Given the description of an element on the screen output the (x, y) to click on. 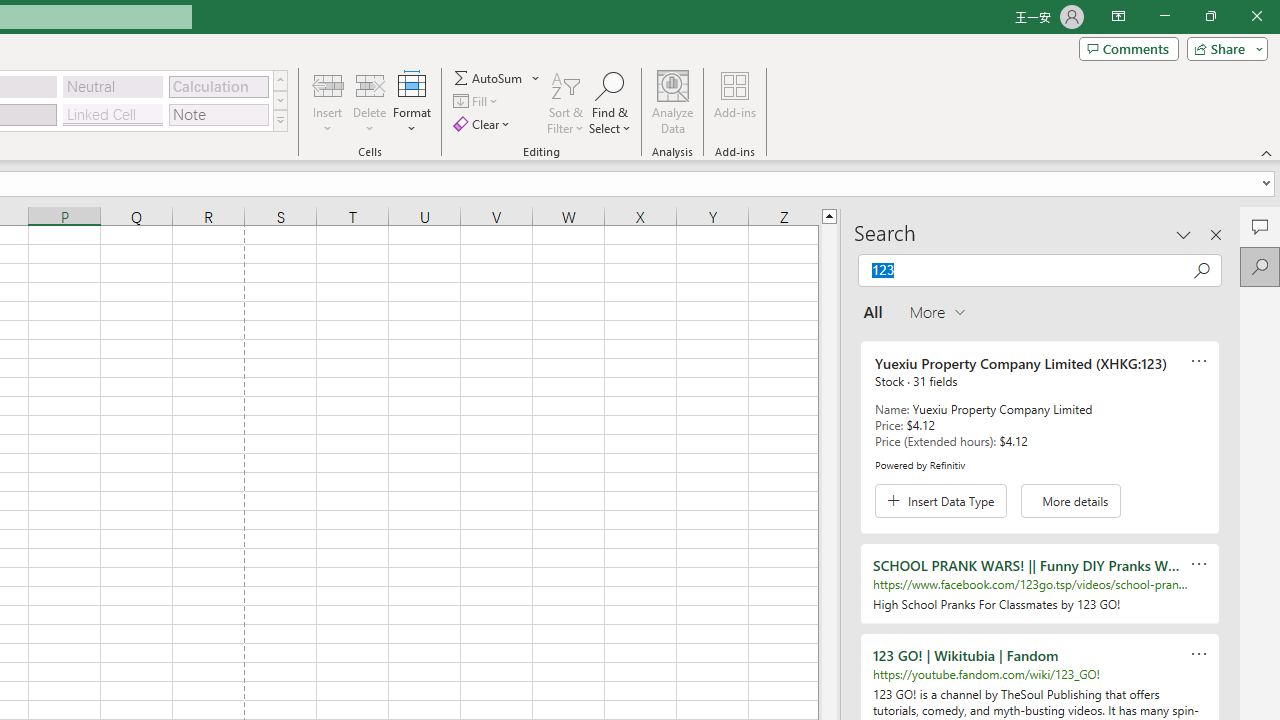
Task Pane Options (1183, 234)
Sum (489, 78)
Analyze Data (673, 102)
Neutral (113, 86)
Close pane (1215, 234)
Insert Cells (328, 84)
Restore Down (1210, 16)
Delete (369, 102)
Find & Select (610, 102)
